Given the description of an element on the screen output the (x, y) to click on. 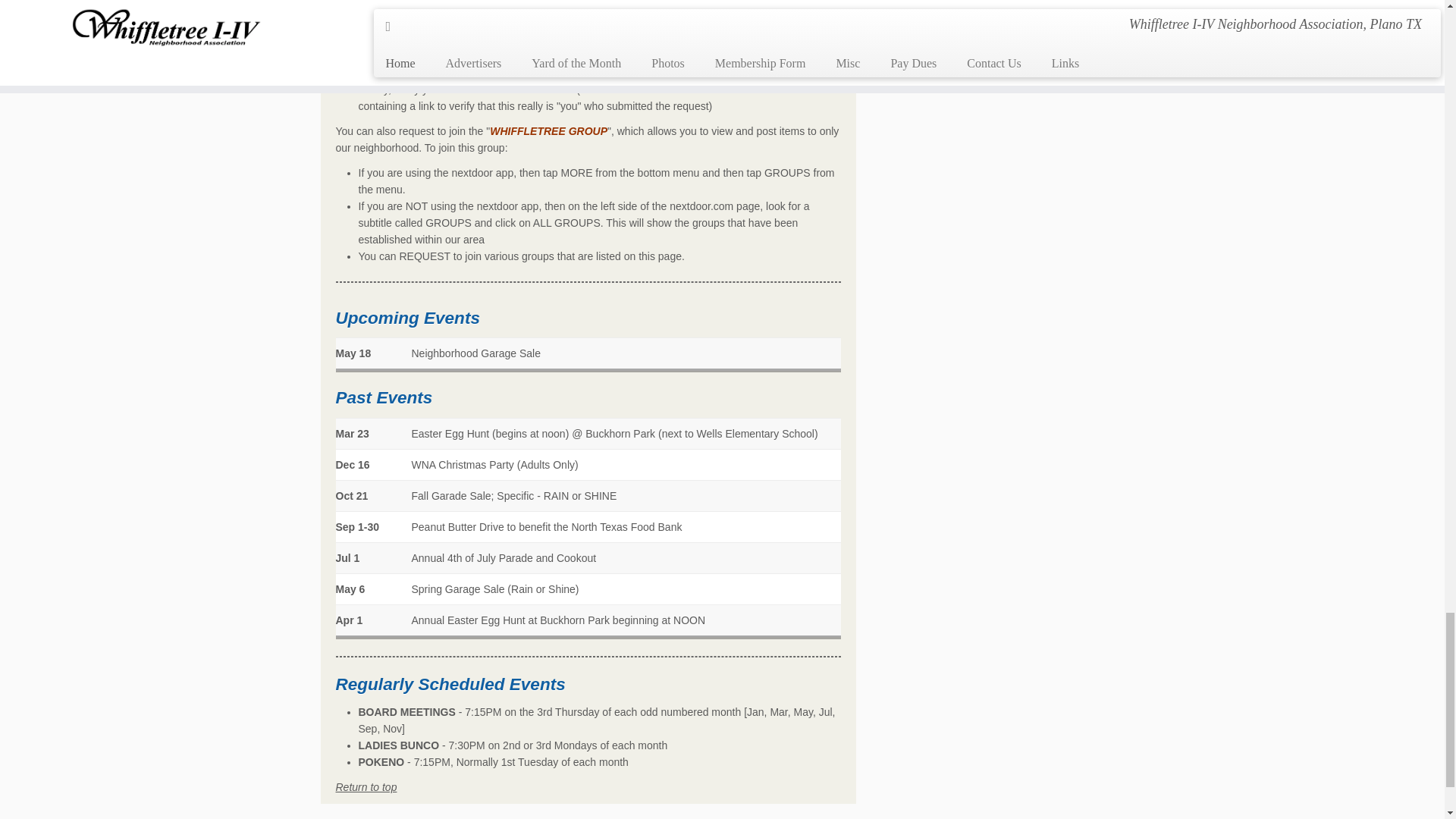
Return to top (365, 787)
www.nextdoor.com (490, 6)
